Given the description of an element on the screen output the (x, y) to click on. 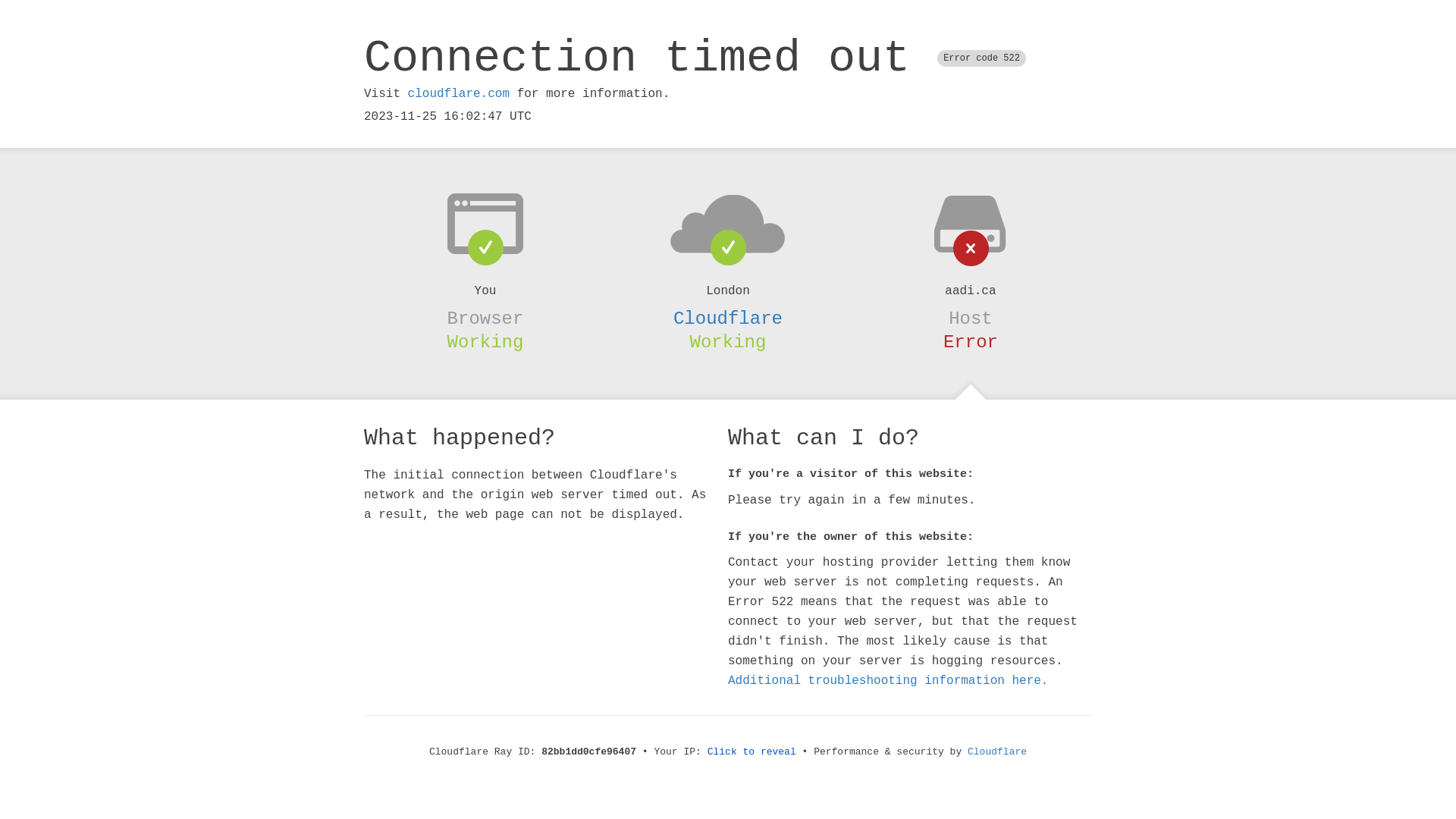
cloudflare.com Element type: text (458, 93)
Cloudflare Element type: text (727, 318)
Cloudflare Element type: text (996, 751)
Additional troubleshooting information here. Element type: text (888, 680)
Click to reveal Element type: text (751, 751)
